Given the description of an element on the screen output the (x, y) to click on. 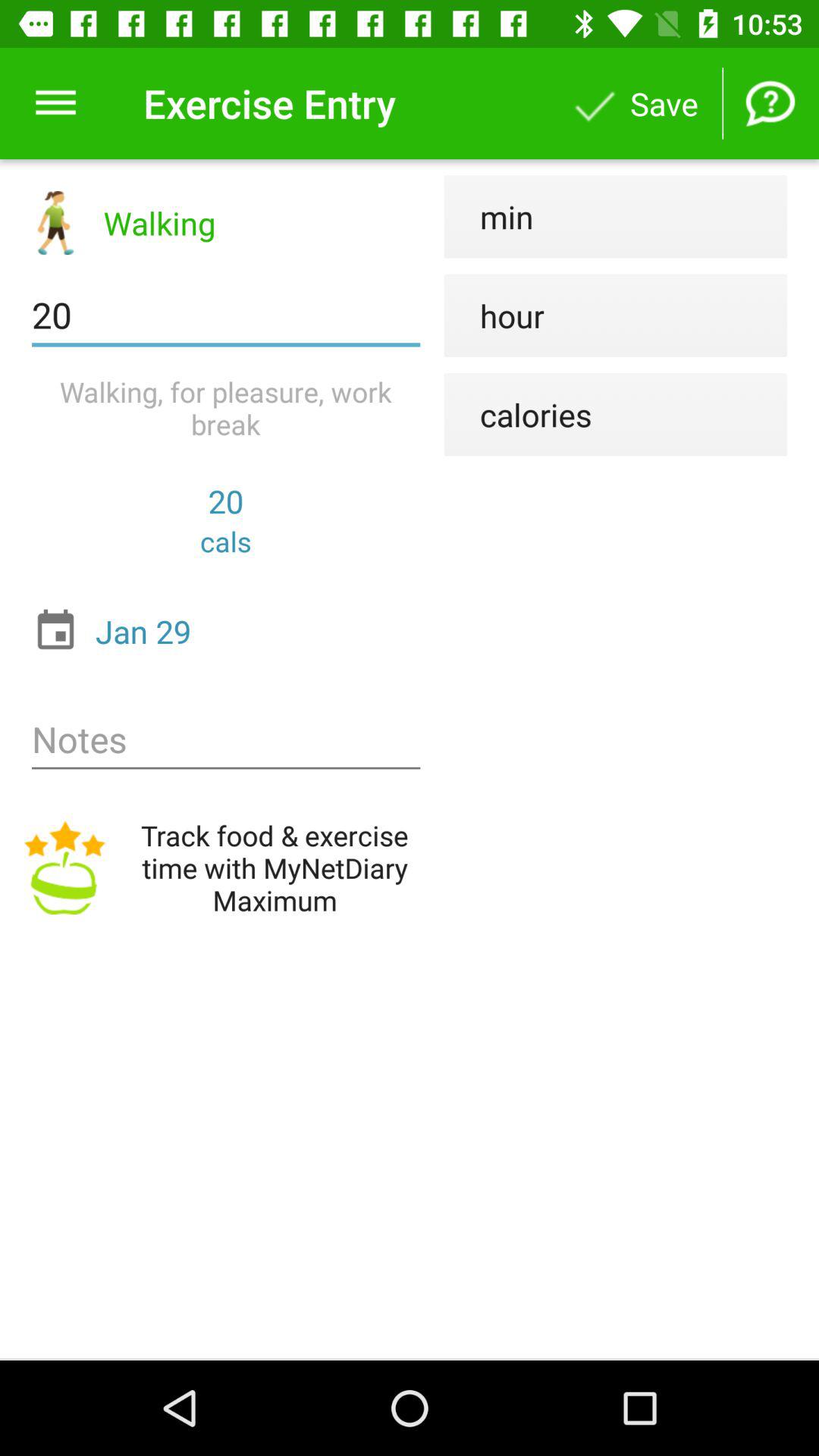
add notes (225, 739)
